Given the description of an element on the screen output the (x, y) to click on. 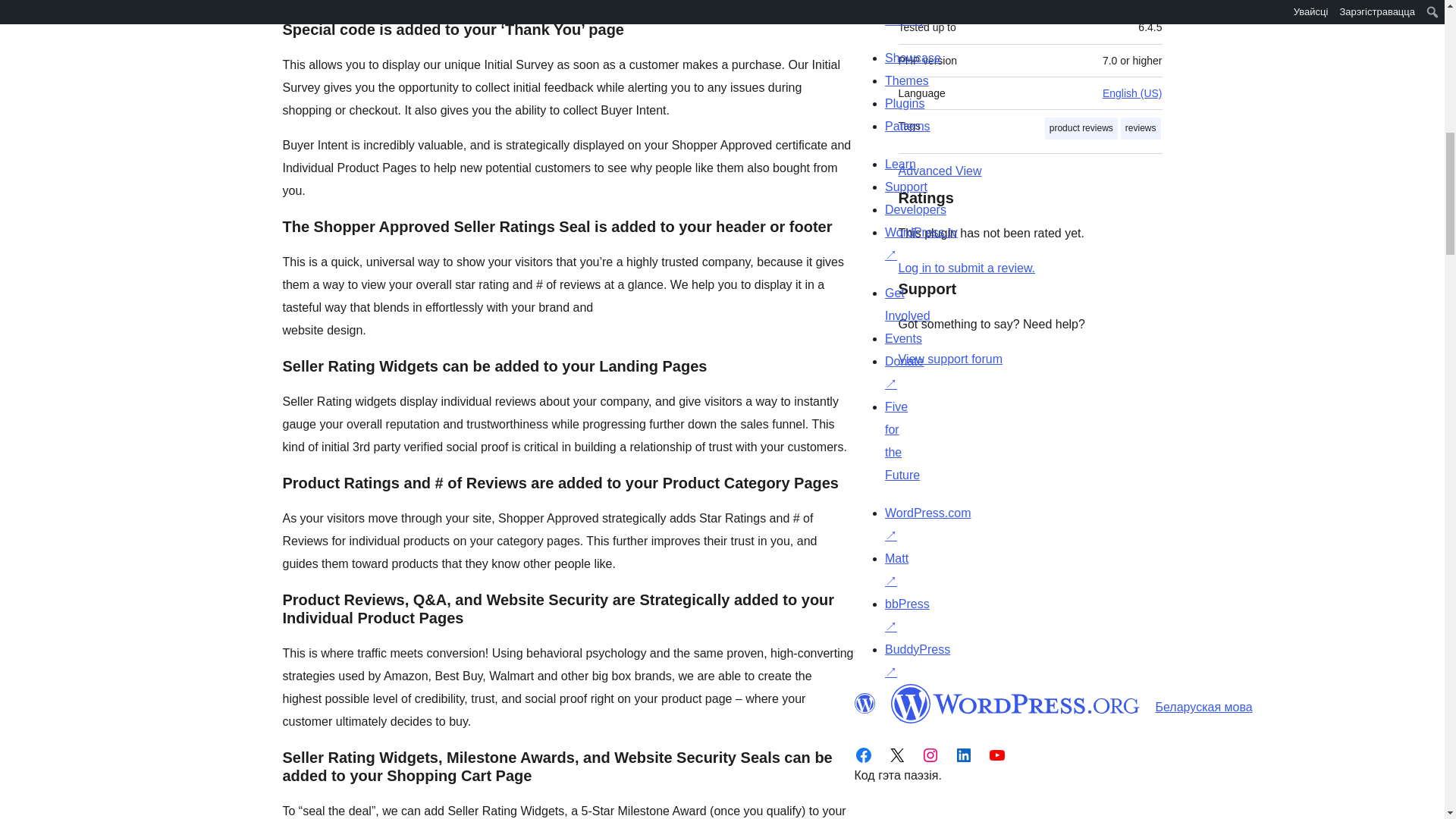
Log in to WordPress.org (966, 267)
WordPress.org (1014, 703)
WordPress.org (864, 703)
